Given the description of an element on the screen output the (x, y) to click on. 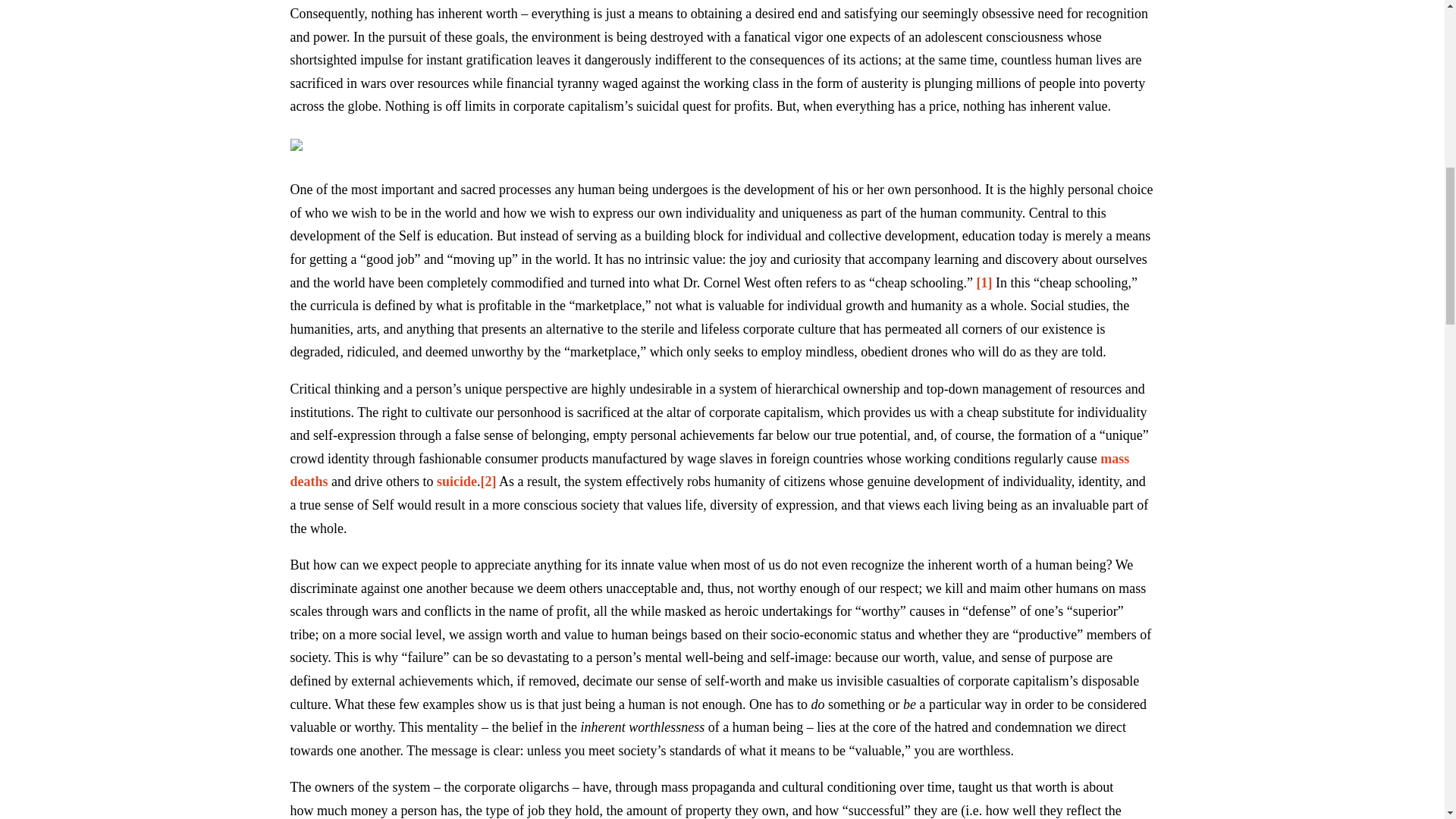
mass deaths (709, 470)
suicide (456, 481)
